Given the description of an element on the screen output the (x, y) to click on. 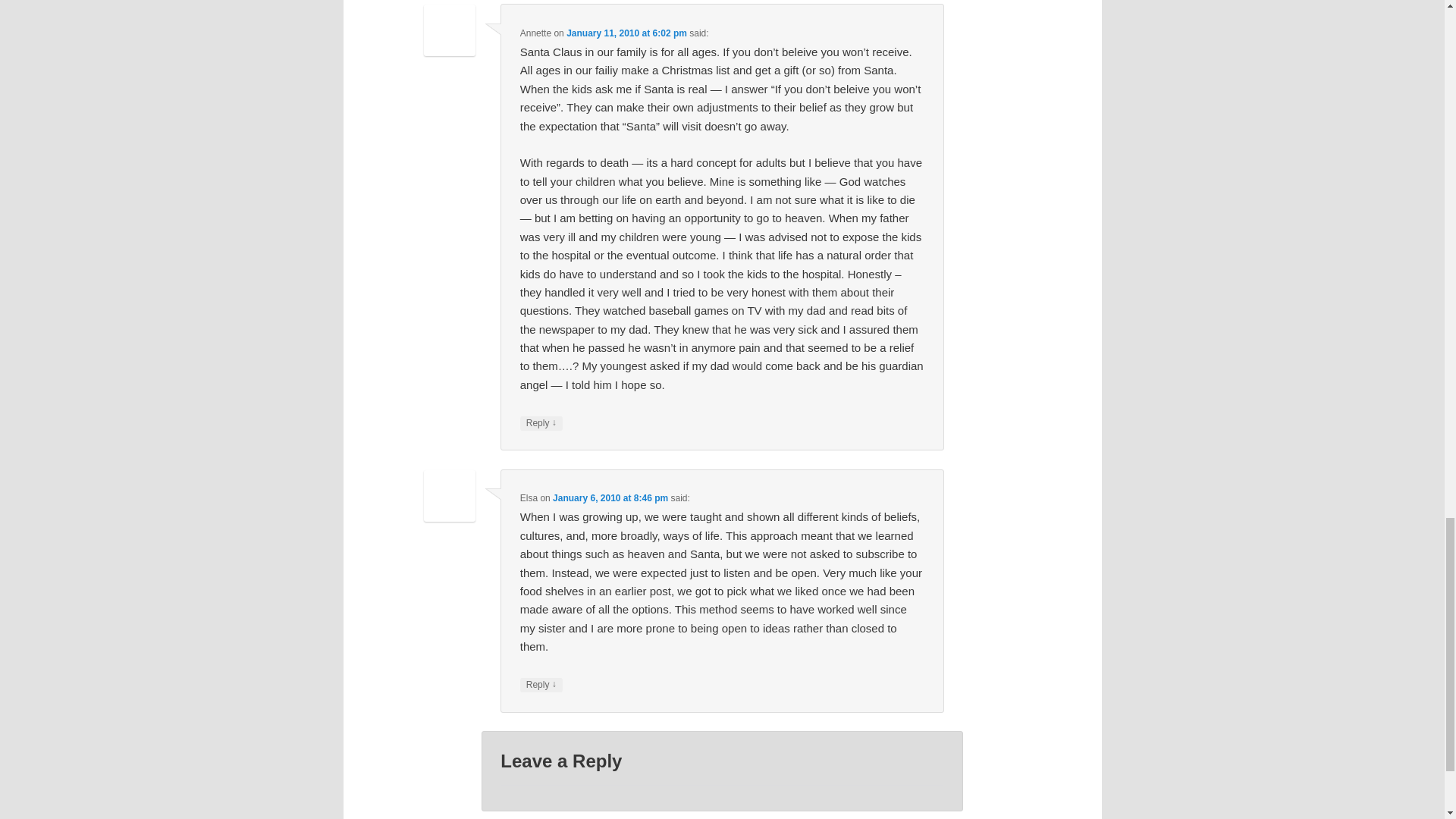
January 6, 2010 at 8:46 pm (610, 498)
January 11, 2010 at 6:02 pm (626, 32)
